Given the description of an element on the screen output the (x, y) to click on. 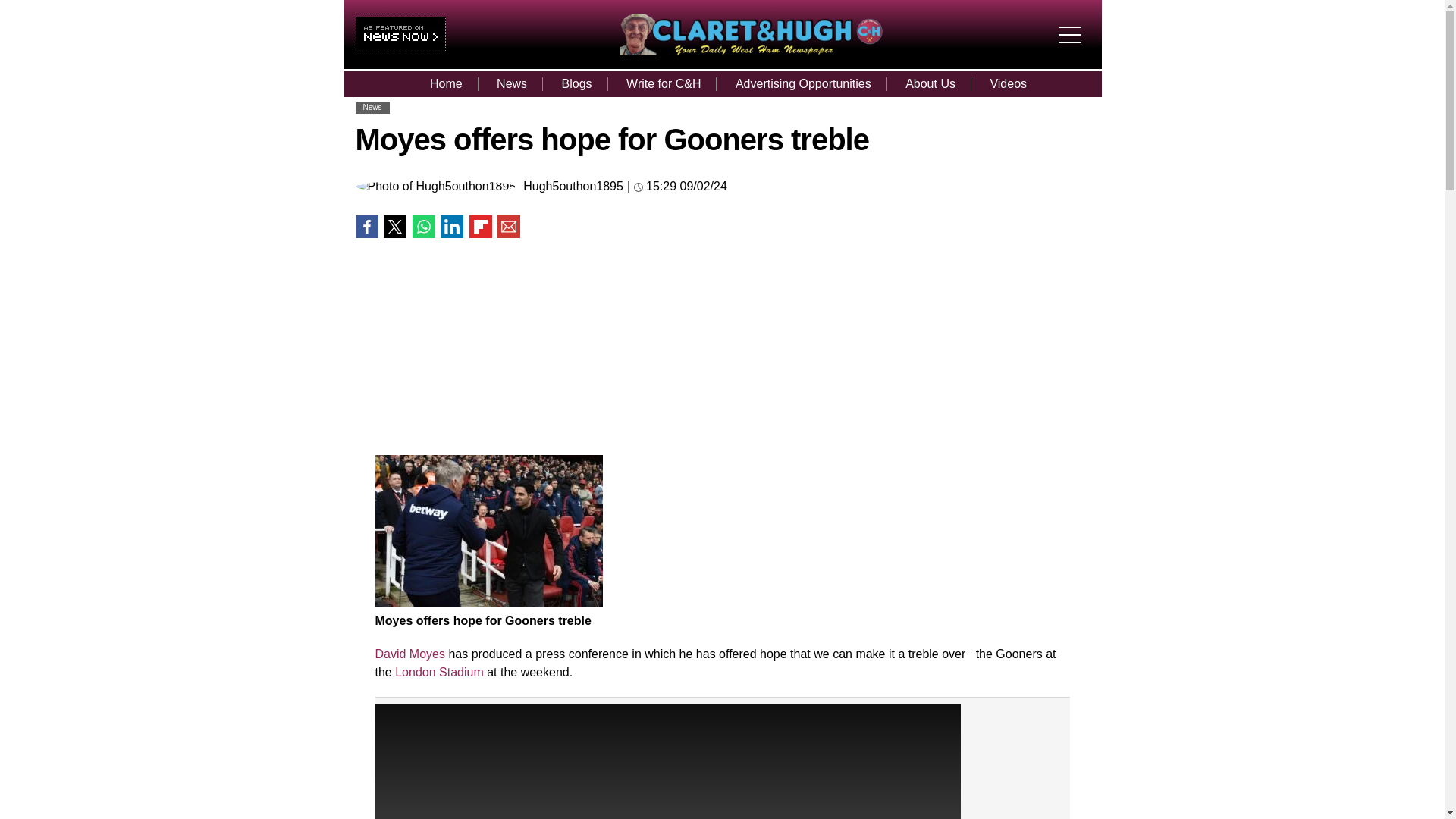
share on WhatsApp (423, 226)
Hugh5outhon1895 (572, 186)
Home (445, 83)
News (511, 83)
Advertising Opportunities (803, 83)
Menu (1074, 21)
share on Flipboard (480, 226)
share on Twitter (395, 226)
share on Facebook (366, 226)
Blogs (577, 83)
News (371, 107)
share on Email (508, 226)
David Moyes (409, 653)
London Stadium (438, 671)
